Given the description of an element on the screen output the (x, y) to click on. 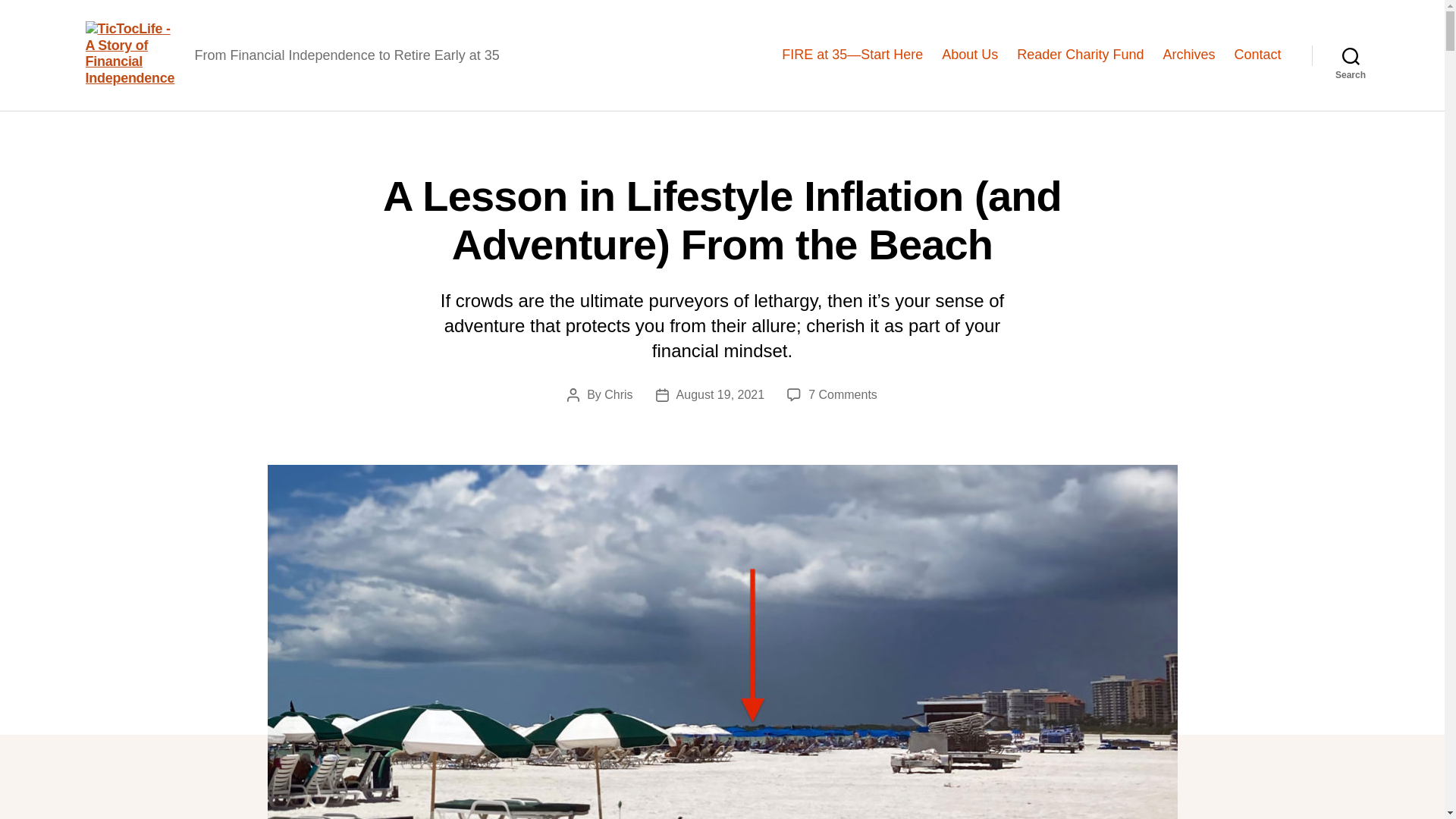
August 19, 2021 (721, 394)
Reader Charity Fund (1079, 54)
Chris (617, 394)
About Us (969, 54)
Search (1350, 55)
7 Comments (842, 394)
Archives (1187, 54)
Contact (1257, 54)
